Given the description of an element on the screen output the (x, y) to click on. 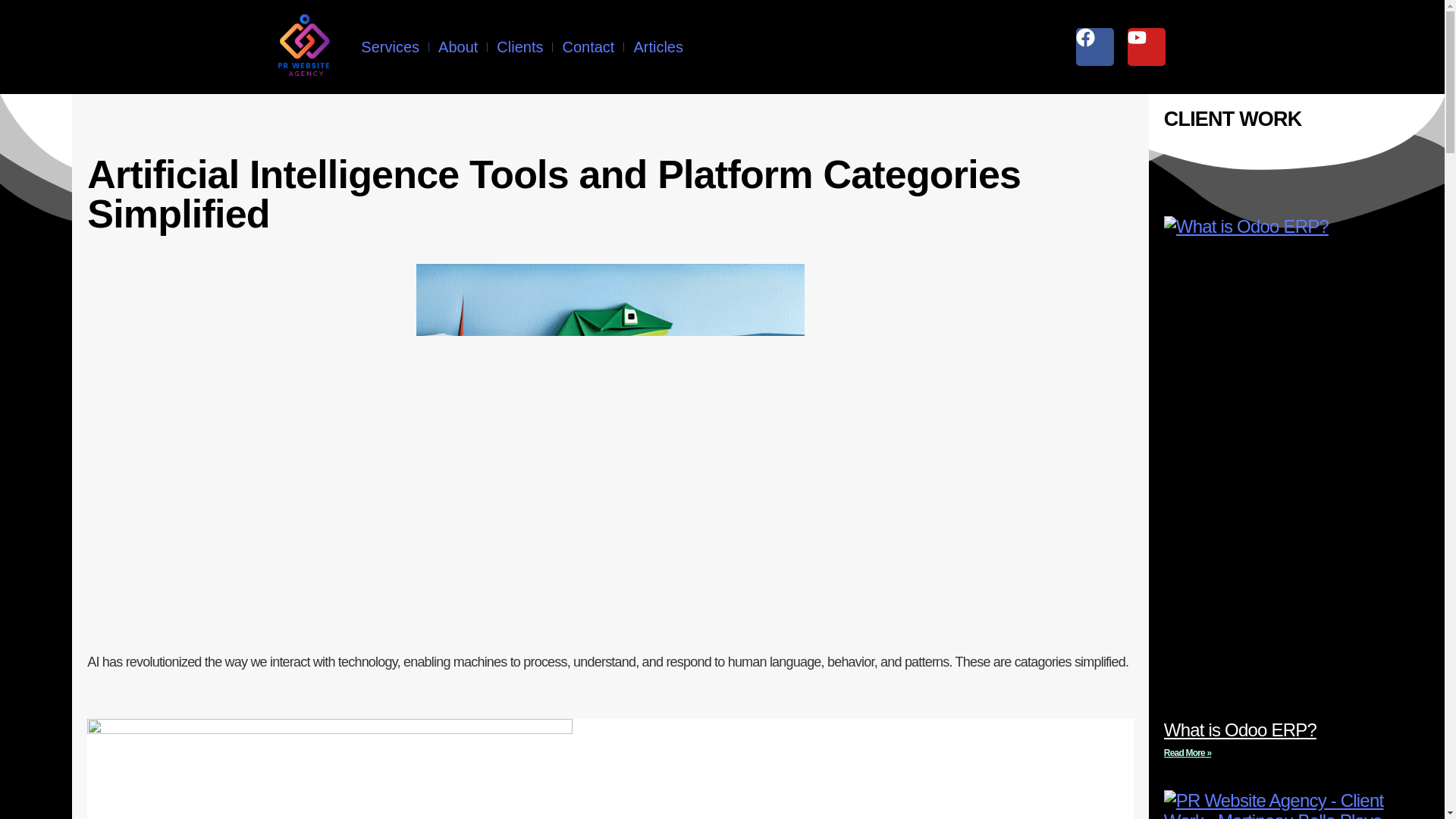
What is Odoo ERP? (1239, 729)
Services (390, 46)
Articles (657, 46)
pr website agency logo (304, 47)
Contact (588, 46)
Clients (519, 46)
About (457, 46)
